Given the description of an element on the screen output the (x, y) to click on. 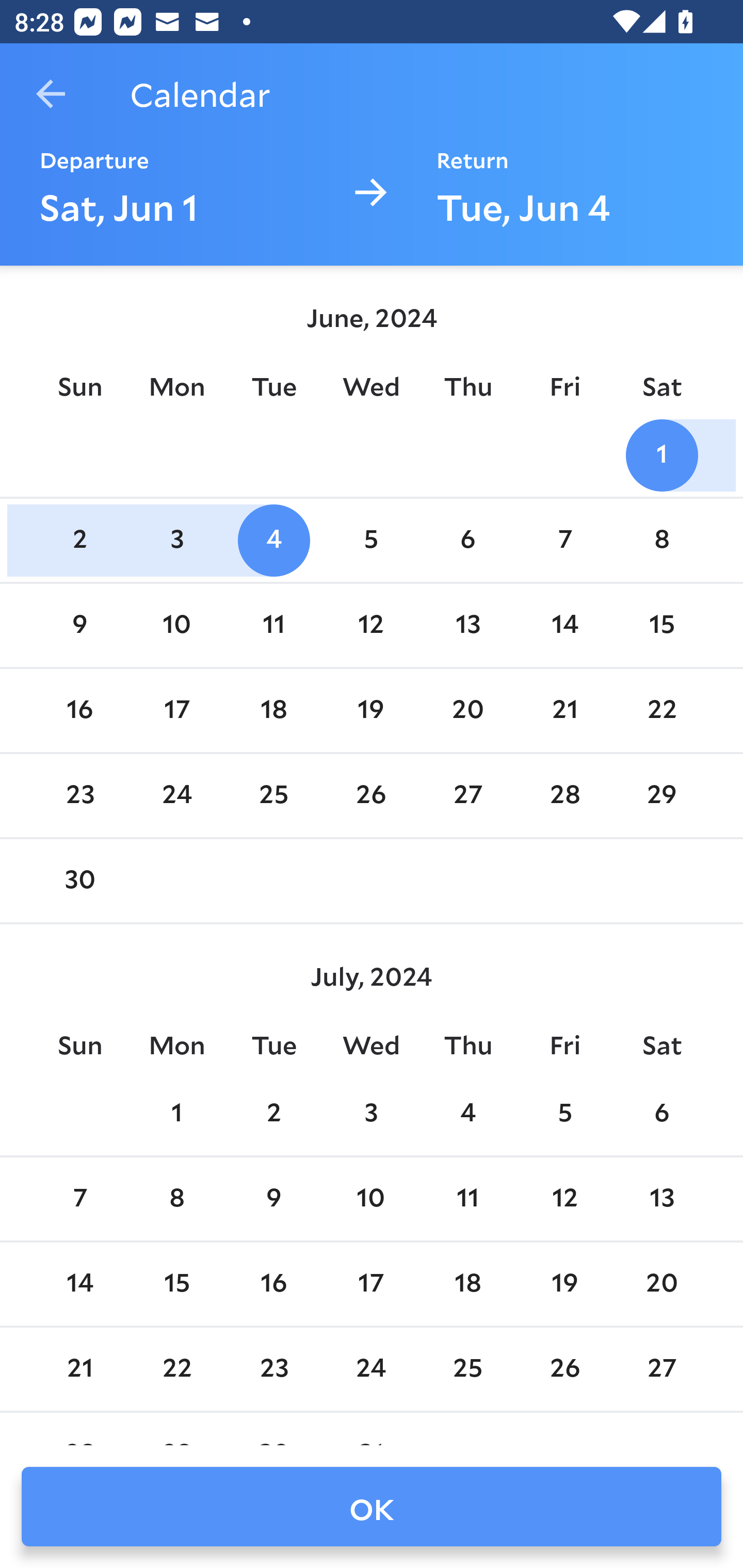
Navigate up (50, 93)
1 (661, 454)
2 (79, 540)
3 (177, 540)
4 (273, 540)
5 (371, 540)
6 (467, 540)
7 (565, 540)
8 (661, 540)
9 (79, 625)
10 (177, 625)
11 (273, 625)
12 (371, 625)
13 (467, 625)
14 (565, 625)
15 (661, 625)
16 (79, 710)
17 (177, 710)
18 (273, 710)
19 (371, 710)
20 (467, 710)
21 (565, 710)
22 (661, 710)
23 (79, 796)
24 (177, 796)
25 (273, 796)
26 (371, 796)
27 (467, 796)
28 (565, 796)
29 (661, 796)
30 (79, 881)
1 (177, 1114)
2 (273, 1114)
3 (371, 1114)
4 (467, 1114)
5 (565, 1114)
6 (661, 1114)
7 (79, 1199)
8 (177, 1199)
9 (273, 1199)
10 (371, 1199)
11 (467, 1199)
12 (565, 1199)
13 (661, 1199)
14 (79, 1284)
15 (177, 1284)
16 (273, 1284)
17 (371, 1284)
18 (467, 1284)
19 (565, 1284)
20 (661, 1284)
21 (79, 1368)
22 (177, 1368)
23 (273, 1368)
24 (371, 1368)
25 (467, 1368)
26 (565, 1368)
27 (661, 1368)
OK (371, 1506)
